Given the description of an element on the screen output the (x, y) to click on. 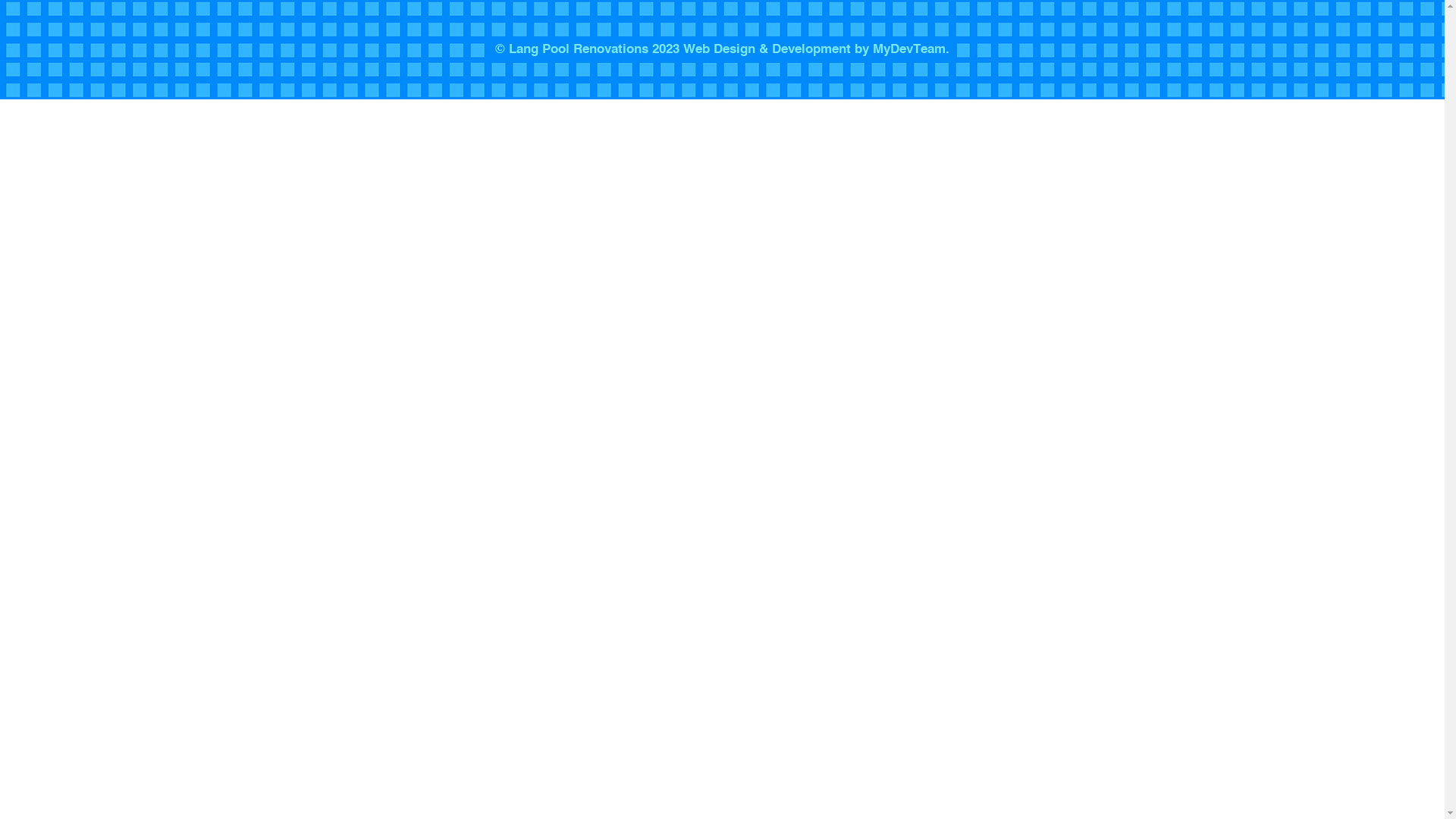
Web Design & Development Element type: text (766, 49)
